Given the description of an element on the screen output the (x, y) to click on. 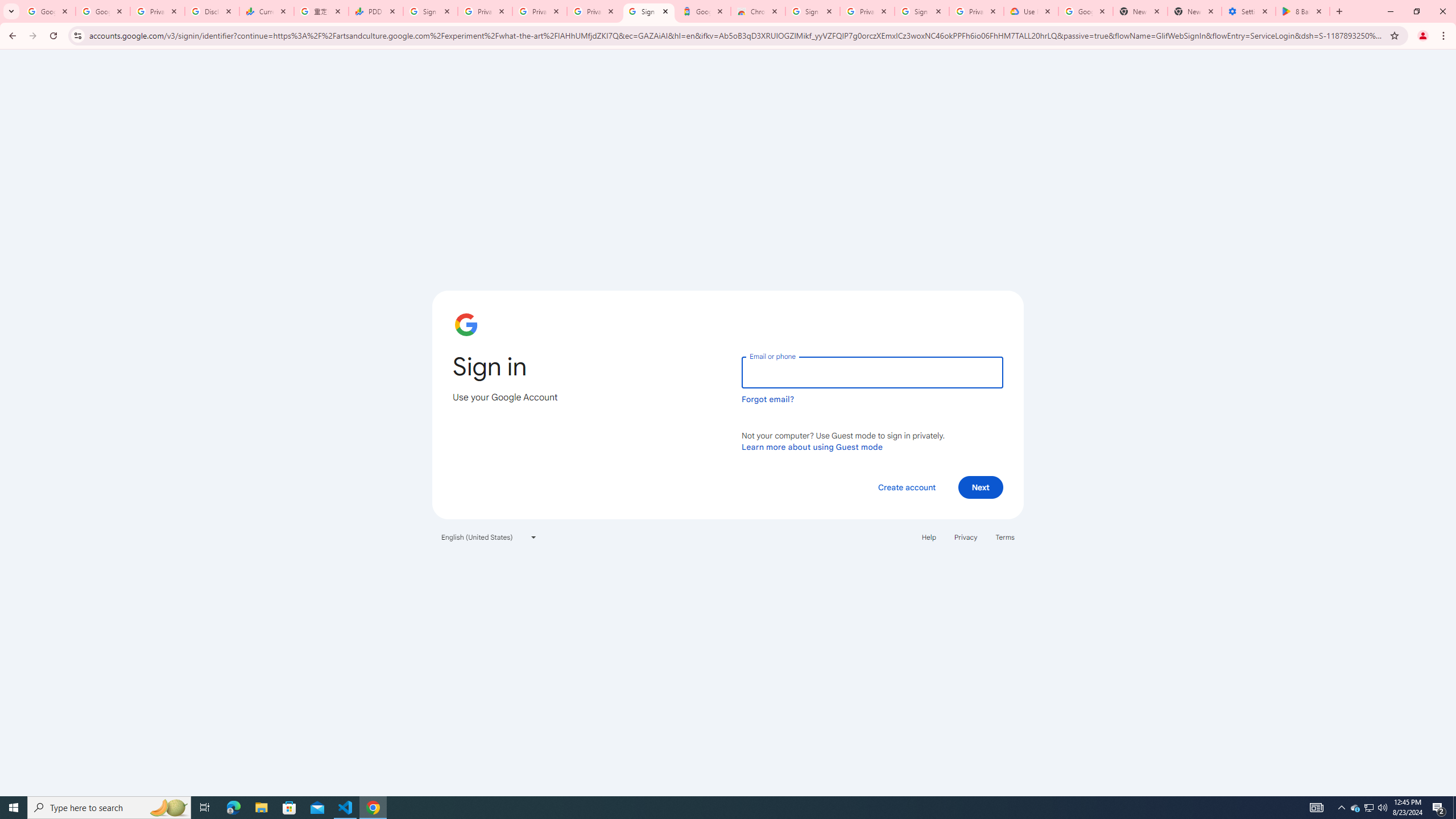
Sign in - Google Accounts (812, 11)
Next (980, 486)
Sign in - Google Accounts (648, 11)
